Given the description of an element on the screen output the (x, y) to click on. 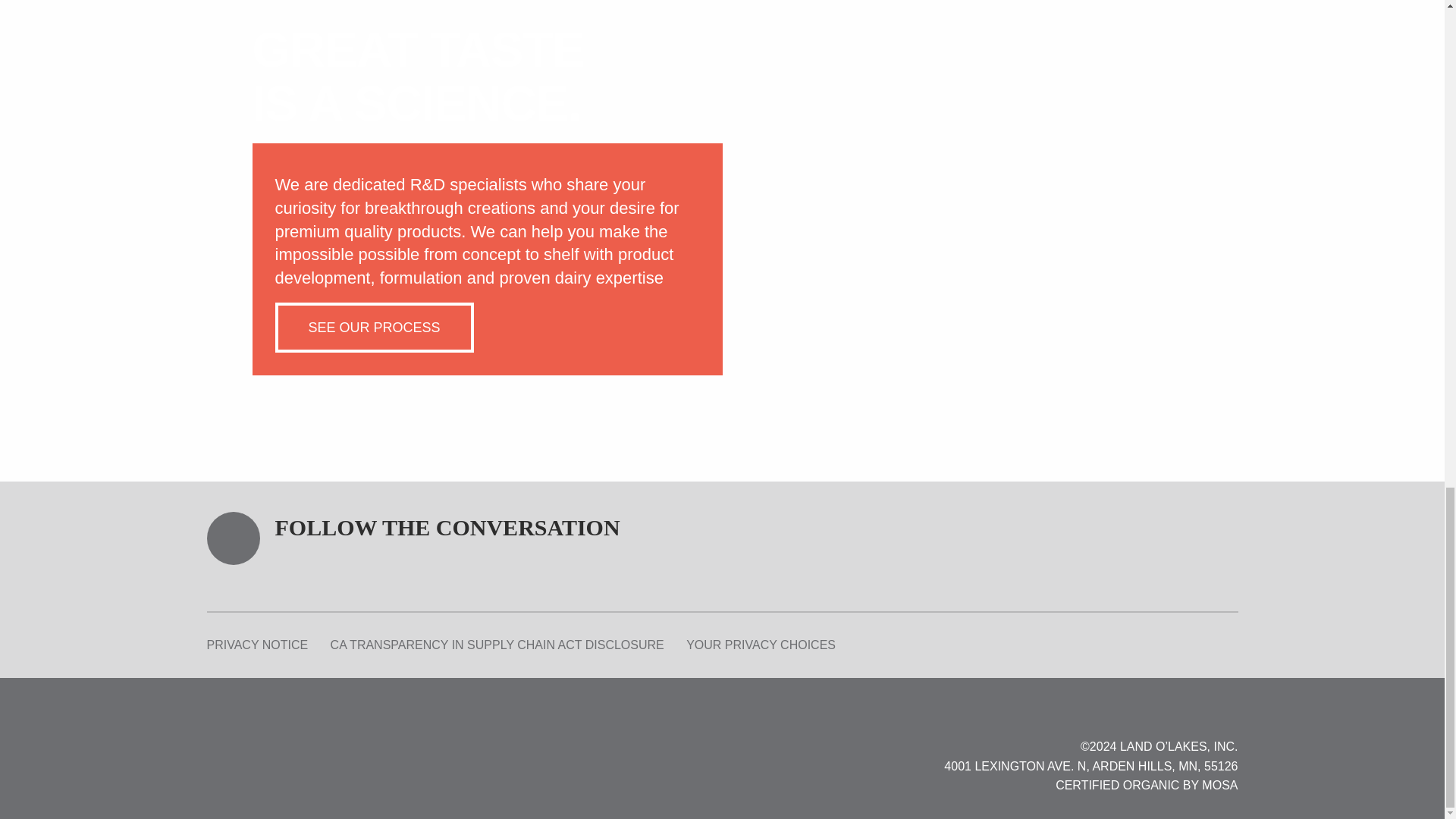
CA TRANSPARENCY IN SUPPLY CHAIN ACT DISCLOSURE (496, 644)
YOUR PRIVACY CHOICES (760, 644)
PRIVACY NOTICE (256, 644)
SEE OUR PROCESS (374, 327)
